Given the description of an element on the screen output the (x, y) to click on. 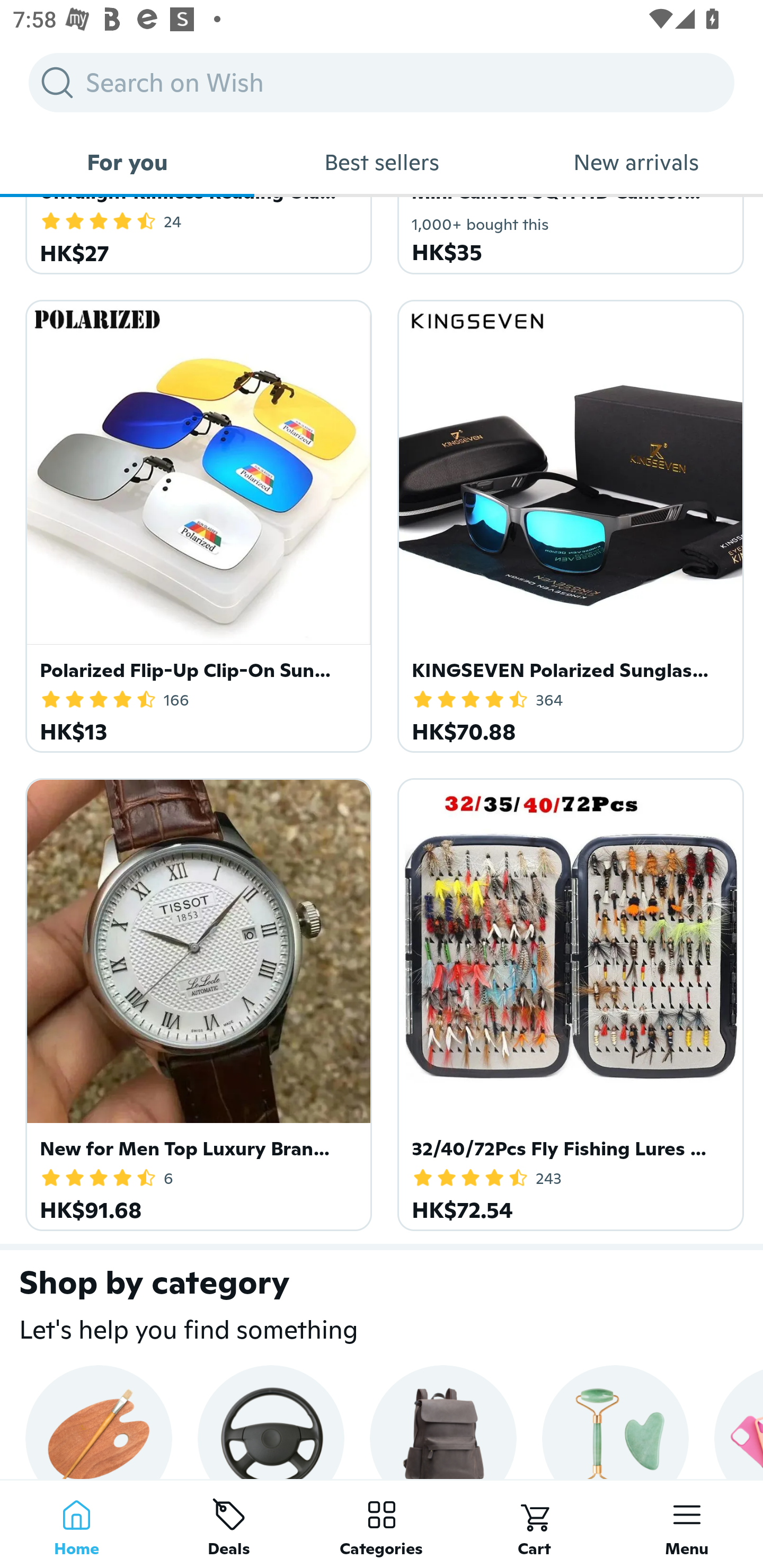
Search on Wish (381, 82)
For you (127, 161)
Best sellers (381, 161)
New arrivals (635, 161)
Arts & crafts (98, 1421)
Cars & auto (270, 1421)
Bags & accessories  (443, 1421)
Beauty (614, 1421)
Home (76, 1523)
Deals (228, 1523)
Categories (381, 1523)
Cart (533, 1523)
Menu (686, 1523)
